Given the description of an element on the screen output the (x, y) to click on. 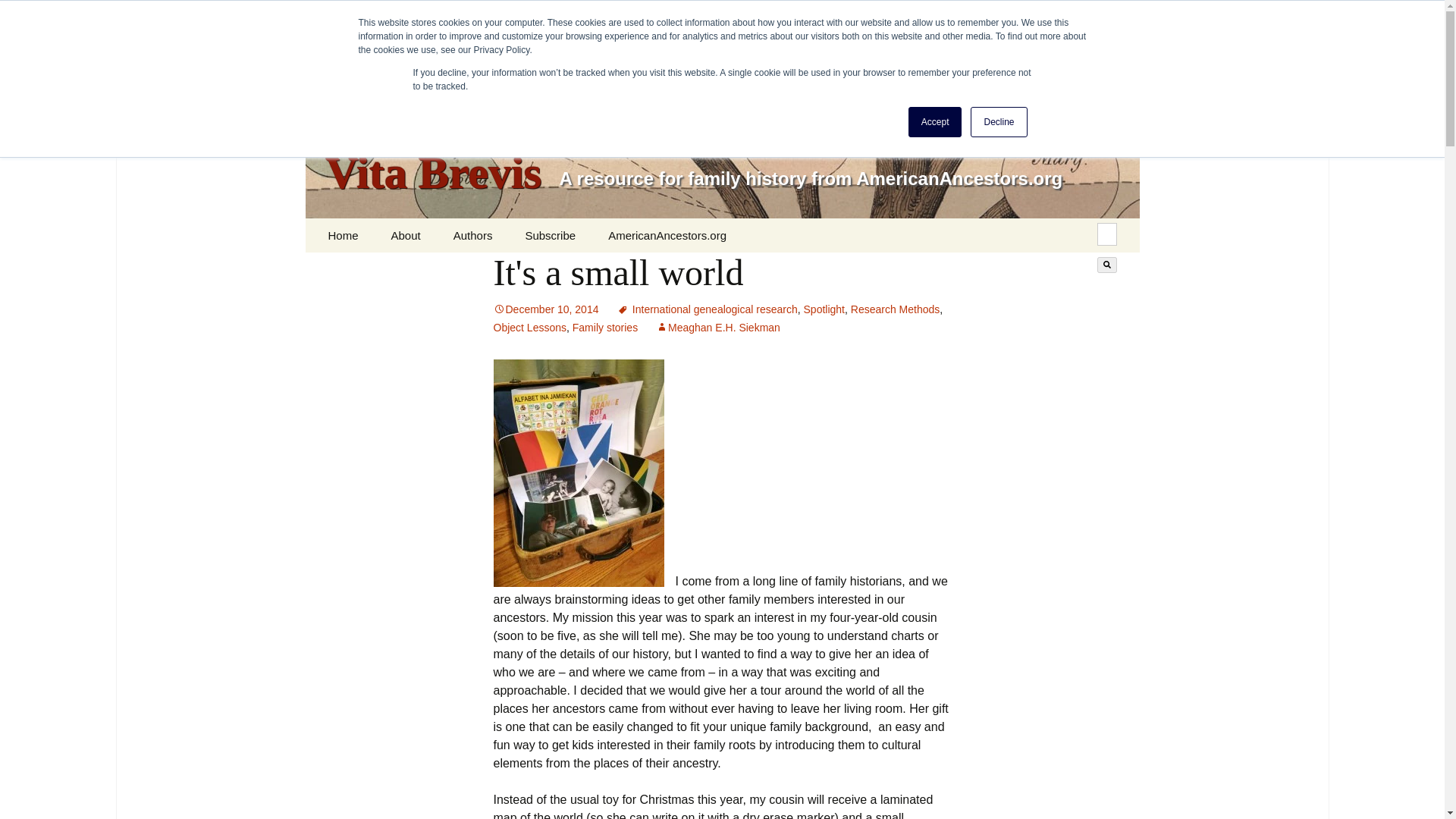
Accept (935, 122)
Home (342, 235)
Authors (473, 235)
Decline (998, 122)
About (405, 235)
